Given the description of an element on the screen output the (x, y) to click on. 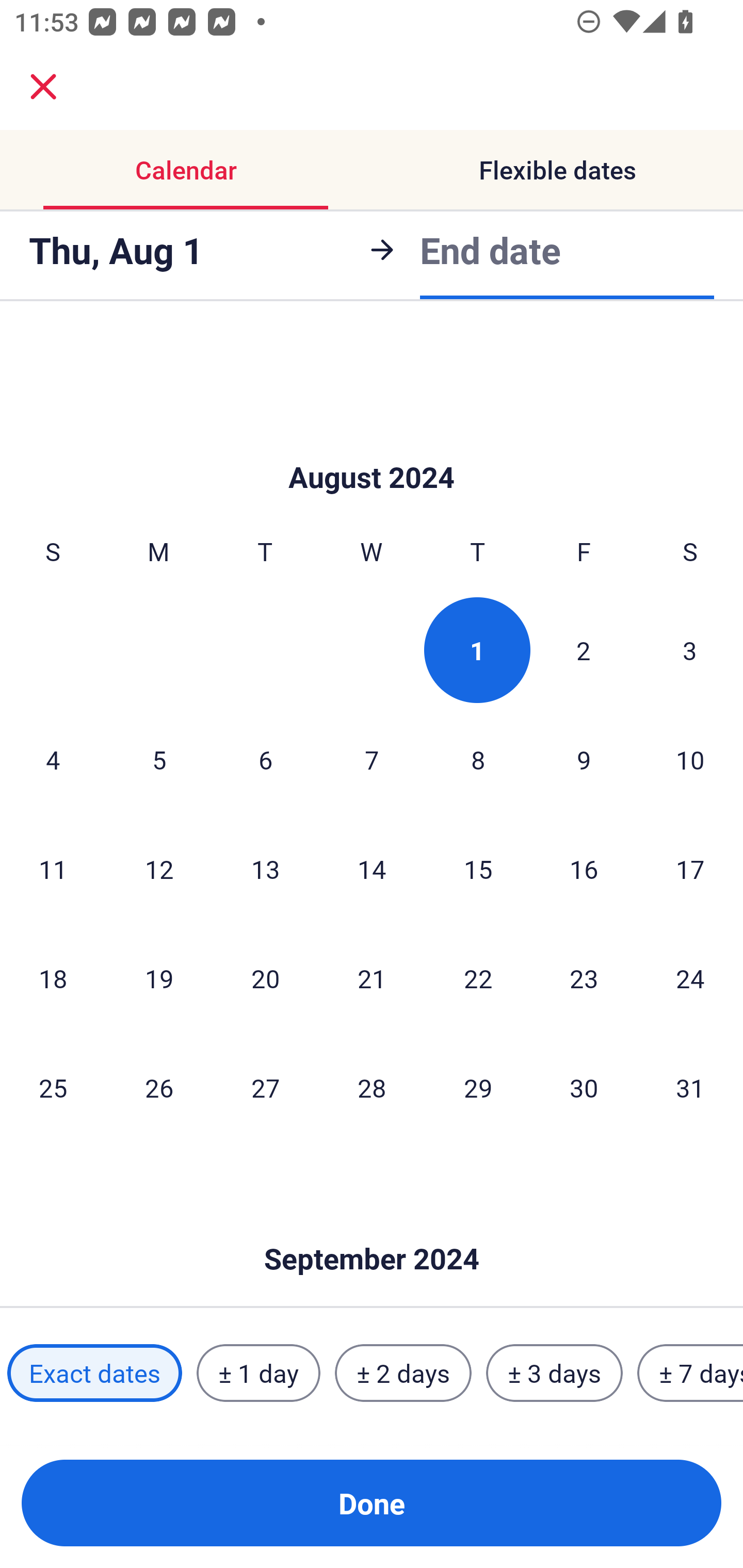
close. (43, 86)
Flexible dates (557, 170)
End date (489, 249)
Skip to Done (371, 445)
2 Friday, August 2, 2024 (583, 649)
3 Saturday, August 3, 2024 (689, 649)
4 Sunday, August 4, 2024 (53, 759)
5 Monday, August 5, 2024 (159, 759)
6 Tuesday, August 6, 2024 (265, 759)
7 Wednesday, August 7, 2024 (371, 759)
8 Thursday, August 8, 2024 (477, 759)
9 Friday, August 9, 2024 (584, 759)
10 Saturday, August 10, 2024 (690, 759)
11 Sunday, August 11, 2024 (53, 868)
12 Monday, August 12, 2024 (159, 868)
13 Tuesday, August 13, 2024 (265, 868)
14 Wednesday, August 14, 2024 (371, 868)
15 Thursday, August 15, 2024 (477, 868)
16 Friday, August 16, 2024 (584, 868)
17 Saturday, August 17, 2024 (690, 868)
18 Sunday, August 18, 2024 (53, 978)
19 Monday, August 19, 2024 (159, 978)
20 Tuesday, August 20, 2024 (265, 978)
21 Wednesday, August 21, 2024 (371, 978)
22 Thursday, August 22, 2024 (477, 978)
23 Friday, August 23, 2024 (584, 978)
24 Saturday, August 24, 2024 (690, 978)
25 Sunday, August 25, 2024 (53, 1086)
26 Monday, August 26, 2024 (159, 1086)
27 Tuesday, August 27, 2024 (265, 1086)
28 Wednesday, August 28, 2024 (371, 1086)
29 Thursday, August 29, 2024 (477, 1086)
30 Friday, August 30, 2024 (584, 1086)
31 Saturday, August 31, 2024 (690, 1086)
Skip to Done (371, 1228)
Exact dates (94, 1372)
± 1 day (258, 1372)
± 2 days (403, 1372)
± 3 days (553, 1372)
± 7 days (690, 1372)
Done (371, 1502)
